Given the description of an element on the screen output the (x, y) to click on. 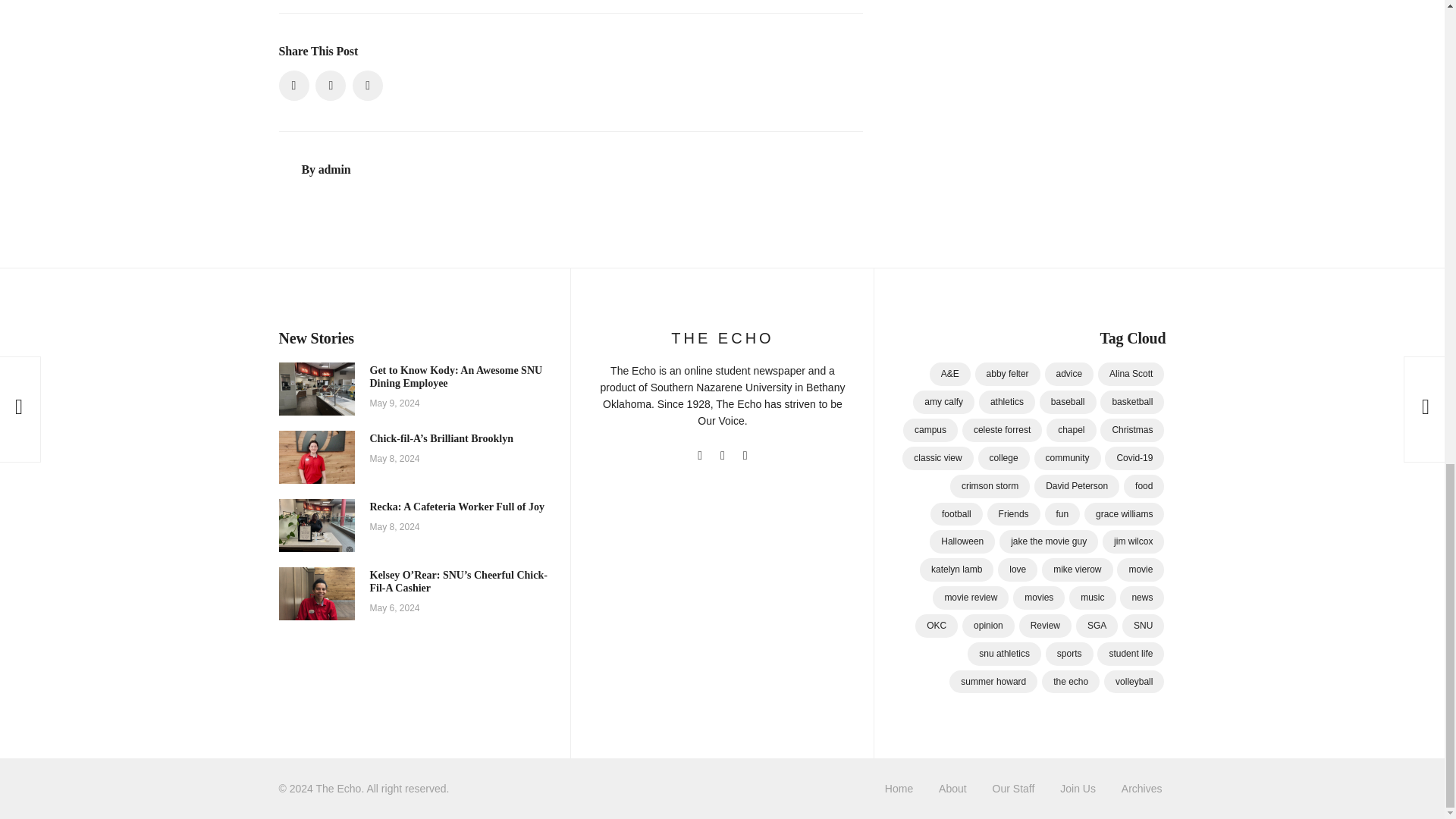
Posts by admin (334, 169)
